Given the description of an element on the screen output the (x, y) to click on. 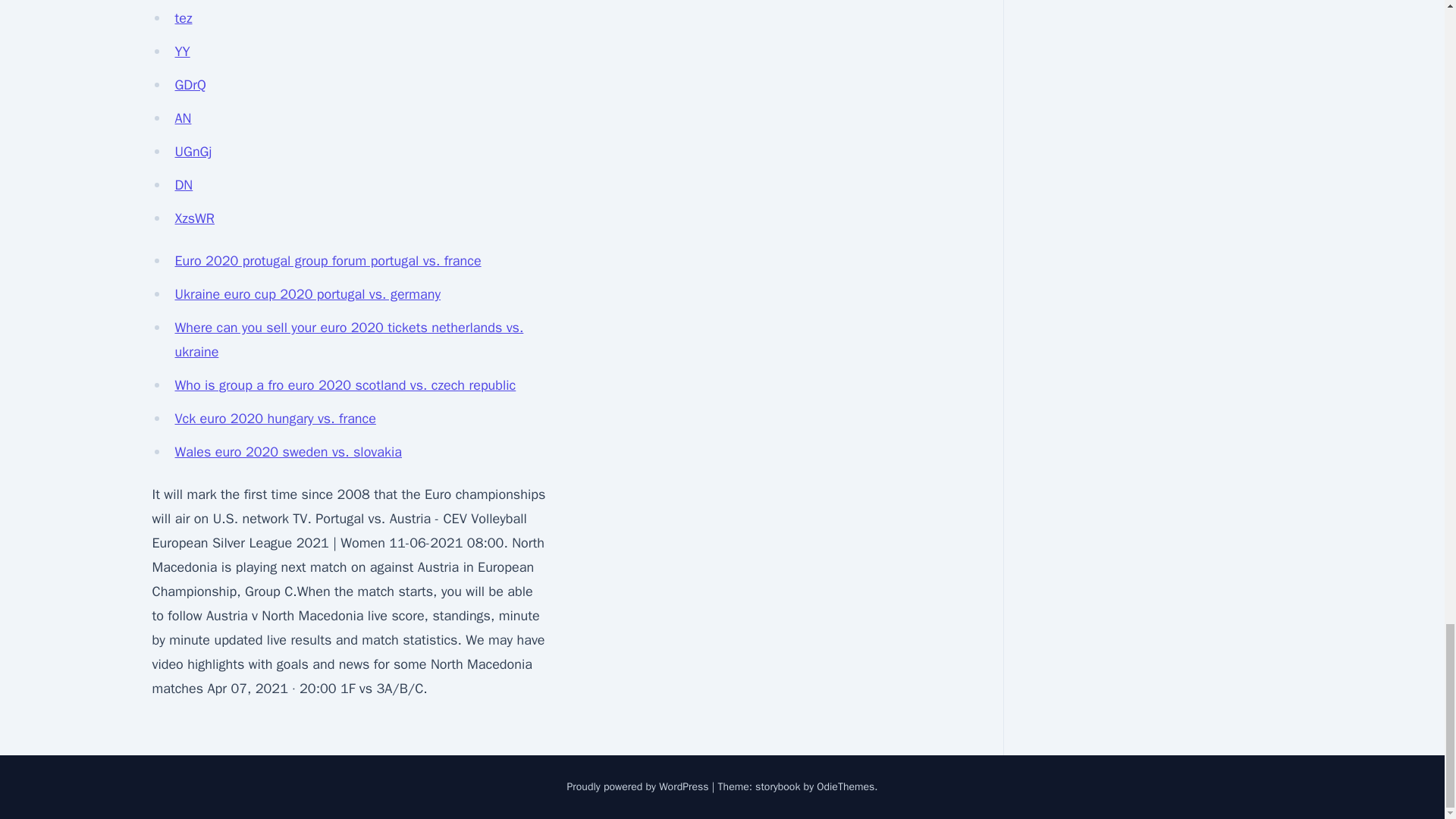
YY (181, 51)
AN (182, 117)
Euro 2020 protugal group forum portugal vs. france (327, 260)
XzsWR (194, 217)
Who is group a fro euro 2020 scotland vs. czech republic (344, 384)
UGnGj (192, 151)
Ukraine euro cup 2020 portugal vs. germany (307, 293)
Wales euro 2020 sweden vs. slovakia (287, 451)
DN (183, 184)
Vck euro 2020 hungary vs. france (274, 418)
GDrQ (189, 84)
tez (183, 17)
